Given the description of an element on the screen output the (x, y) to click on. 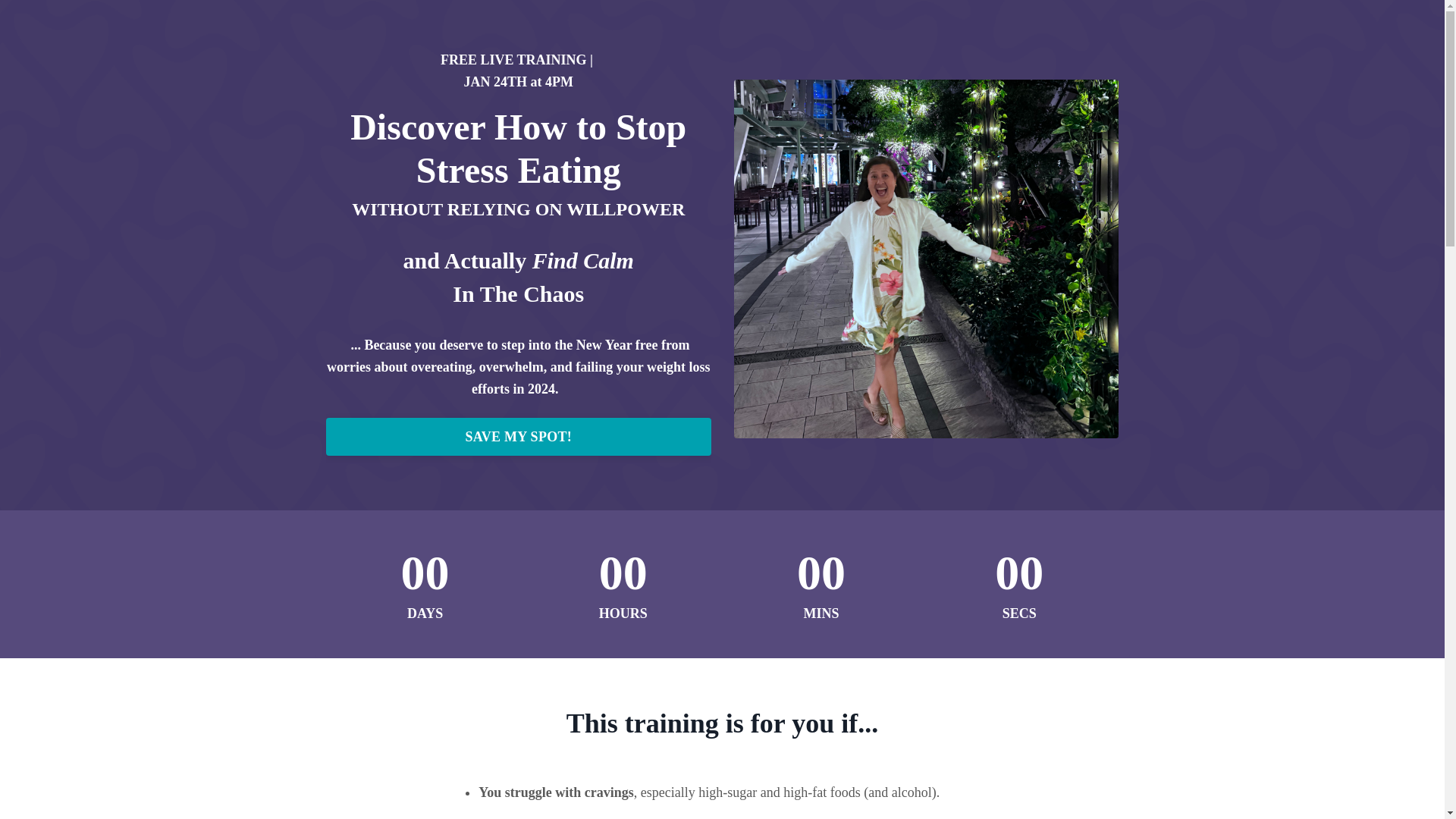
SAVE MY SPOT! (518, 436)
